Given the description of an element on the screen output the (x, y) to click on. 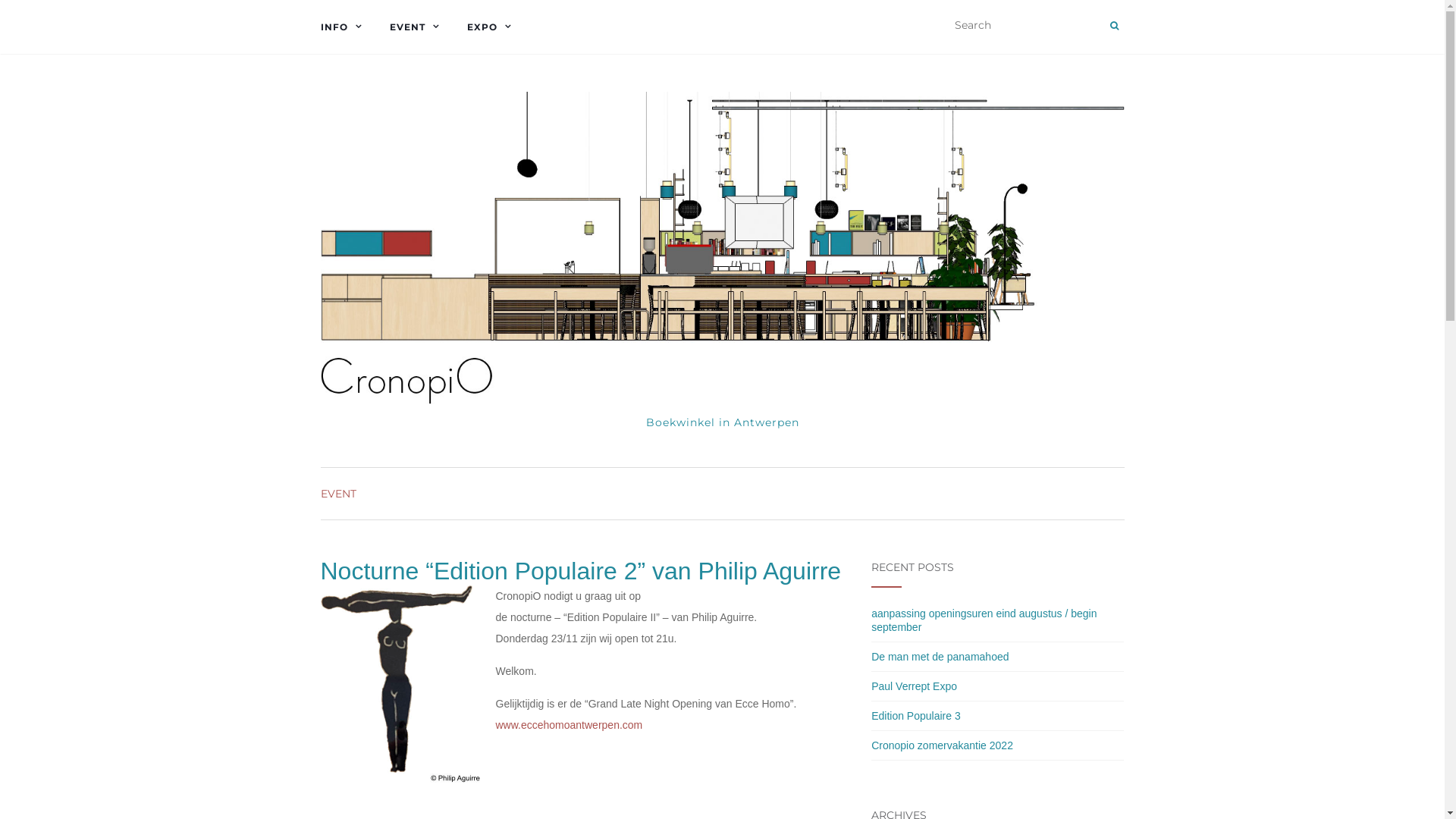
EVENT Element type: text (337, 493)
www.eccehomoantwerpen.com Element type: text (569, 724)
EVENT Element type: text (418, 26)
Search Element type: text (1114, 25)
Cronopio zomervakantie 2022 Element type: text (942, 745)
Paul Verrept Expo Element type: text (914, 686)
INFO Element type: text (345, 26)
EXPO Element type: text (493, 26)
Edition Populaire 3 Element type: text (915, 715)
aanpassing openingsuren eind augustus / begin september Element type: text (983, 620)
De man met de panamahoed Element type: text (939, 656)
